Given the description of an element on the screen output the (x, y) to click on. 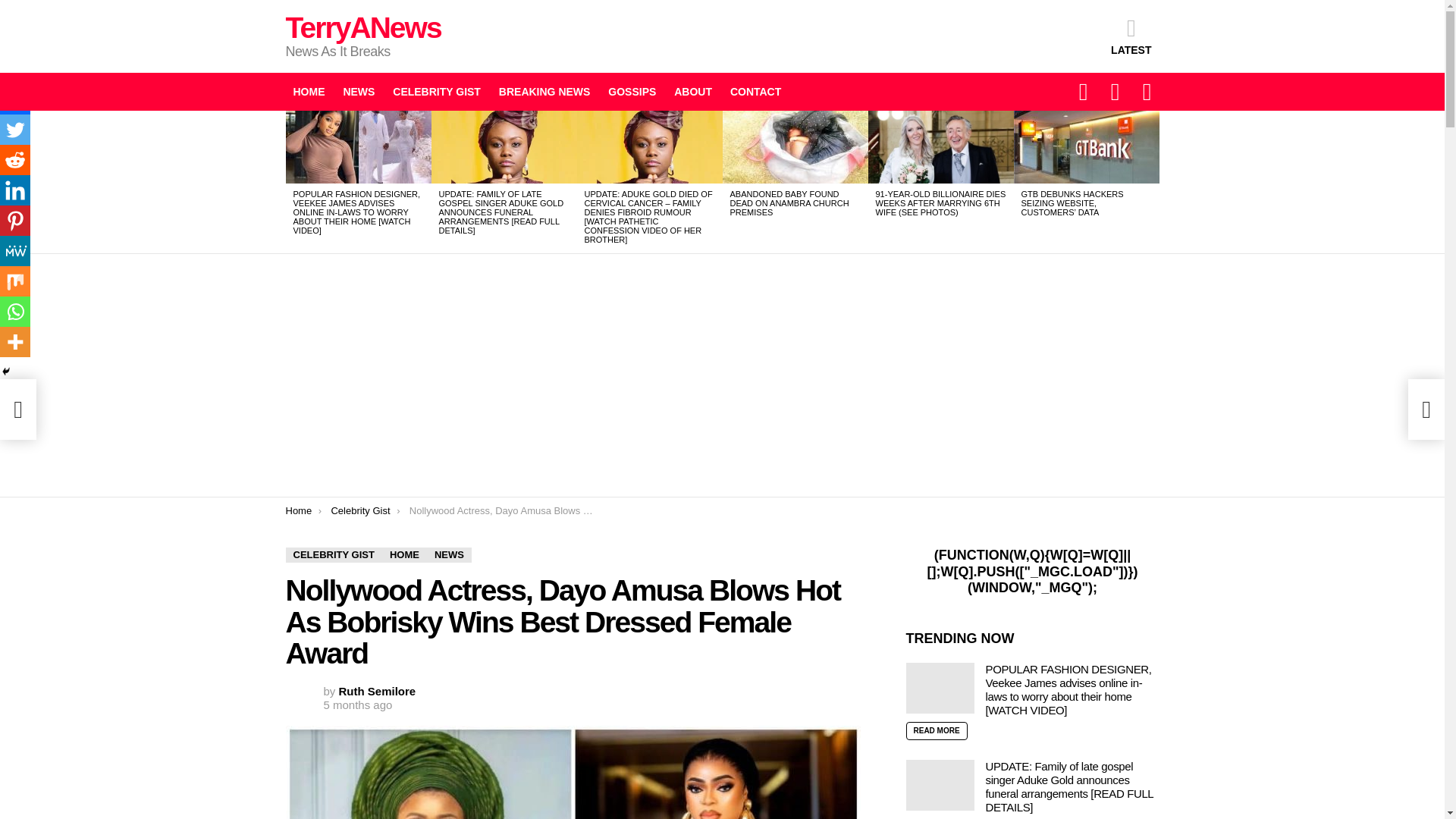
ABOUT (692, 91)
HOME (403, 554)
TerryANews (363, 27)
CELEBRITY GIST (436, 91)
ABANDONED BABY FOUND DEAD ON ANAMBRA CHURCH PREMISES (788, 203)
Abandoned baby found dead on Anambra church premises (794, 146)
March 25, 2024, 12:31 pm (357, 704)
NEWS (357, 91)
Home (298, 510)
Celebrity Gist (360, 510)
